Given the description of an element on the screen output the (x, y) to click on. 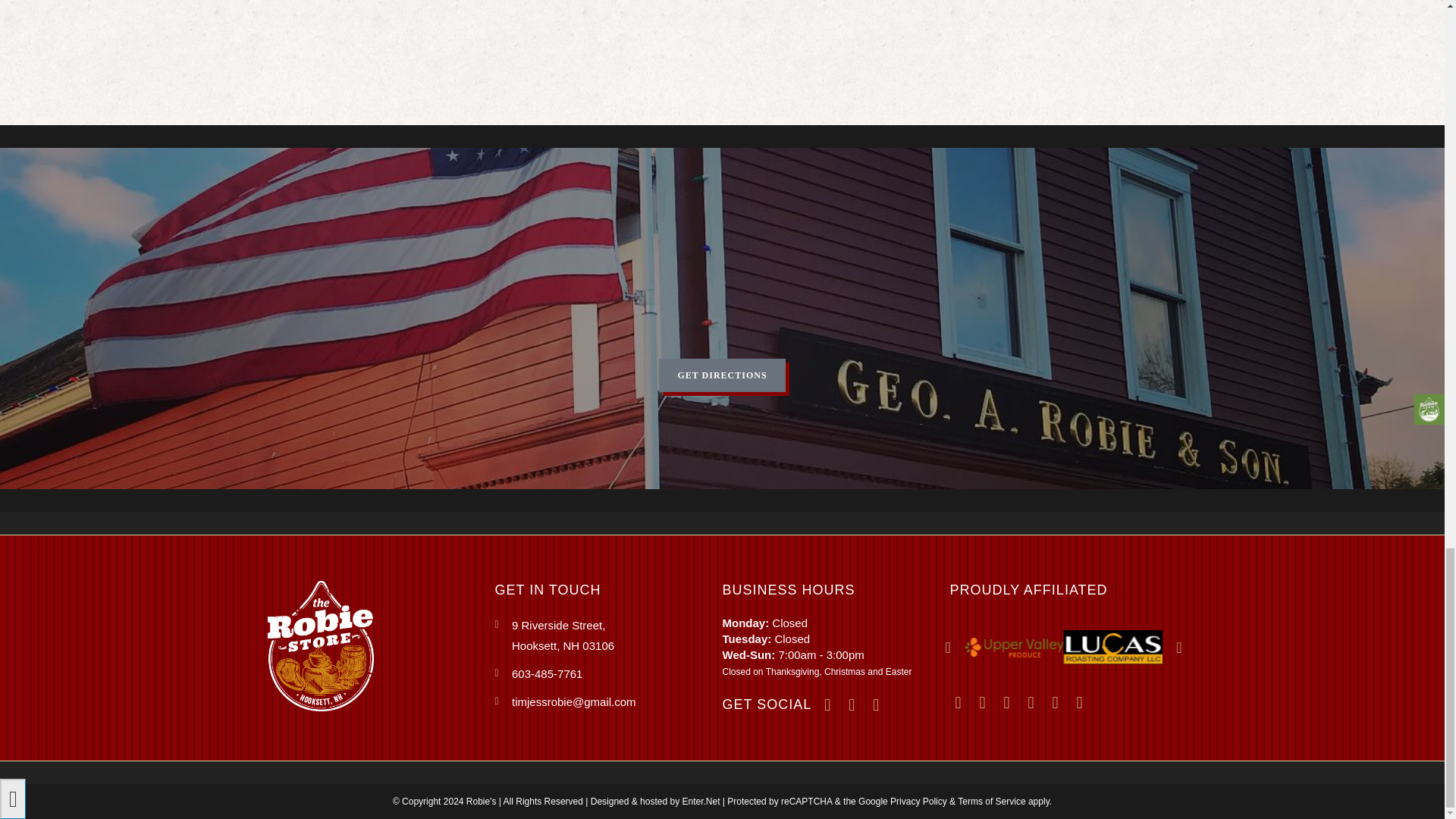
603-485-7761 (608, 673)
Terms of Service (991, 801)
Privacy Policy (918, 801)
Enter.Net (701, 801)
GET DIRECTIONS (721, 375)
